Given the description of an element on the screen output the (x, y) to click on. 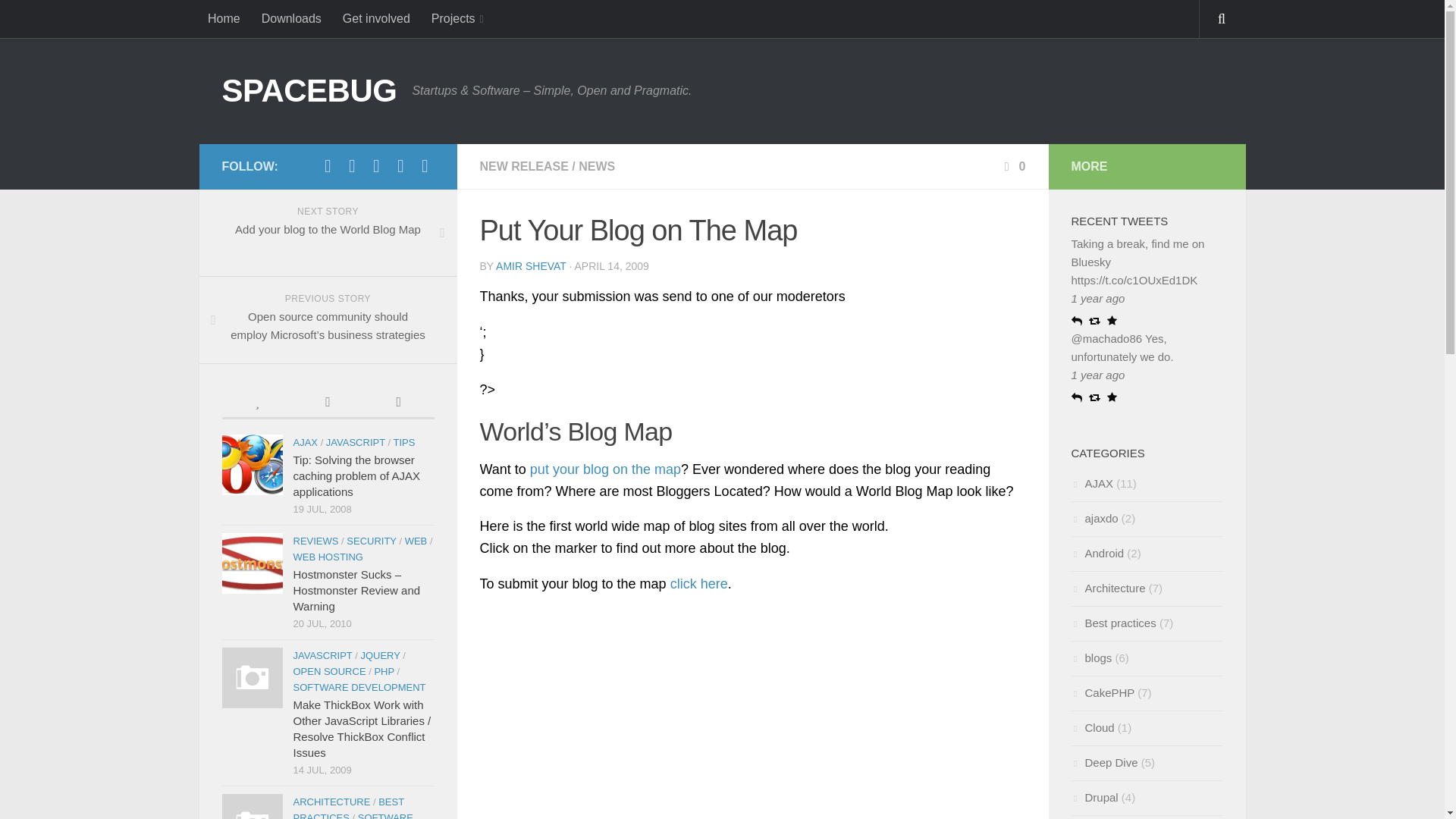
Posts by Amir Shevat (531, 265)
NEWS (596, 165)
SPACEBUG (308, 90)
Twitter (327, 166)
AMIR SHEVAT (531, 265)
click here (698, 583)
Projects (457, 18)
Home (223, 18)
put your blog on the map (605, 468)
0 (1013, 165)
NEW RELEASE (523, 165)
Get involved (375, 18)
Downloads (290, 18)
